Given the description of an element on the screen output the (x, y) to click on. 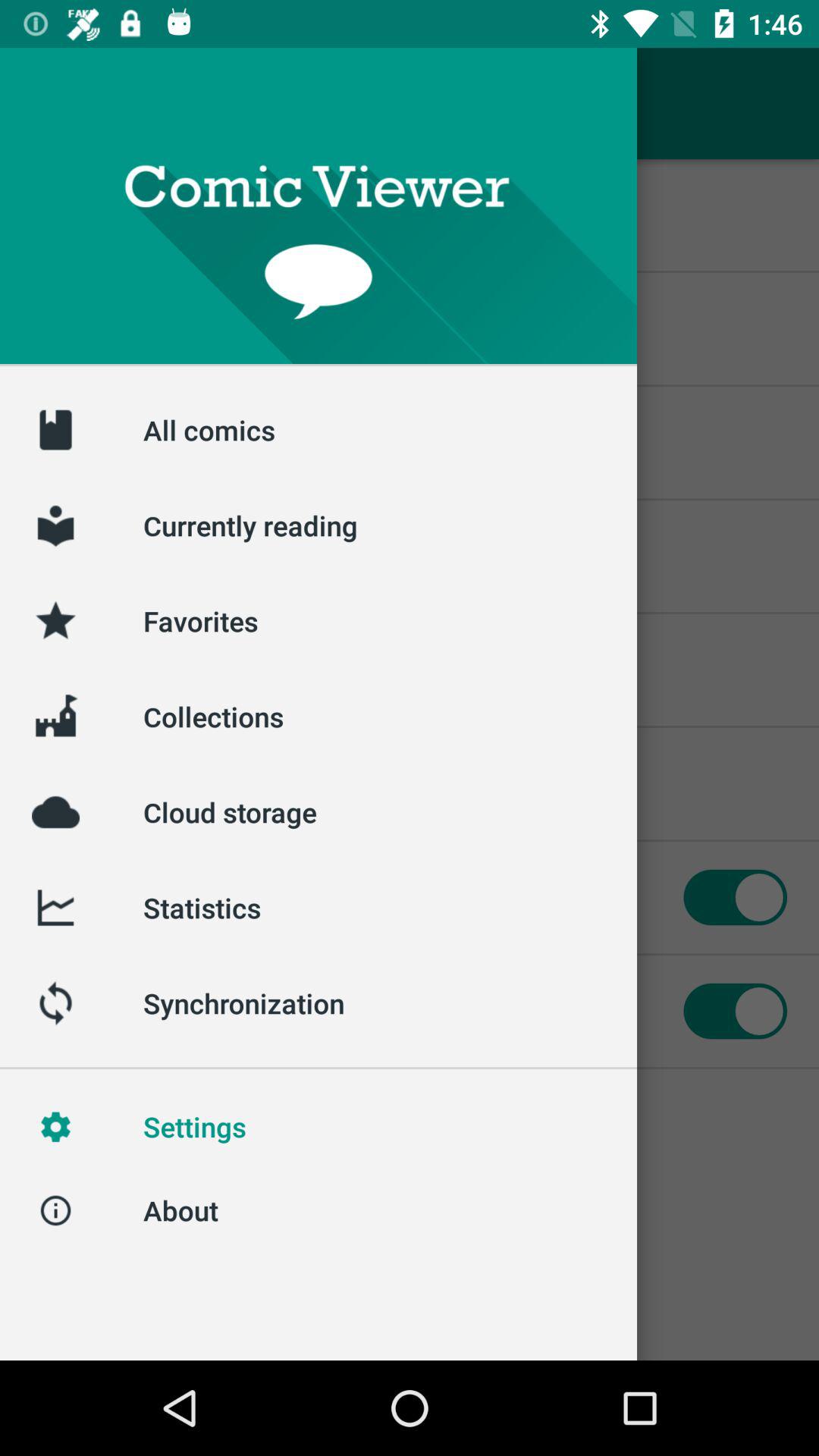
click on the cloud icon (55, 812)
